Given the description of an element on the screen output the (x, y) to click on. 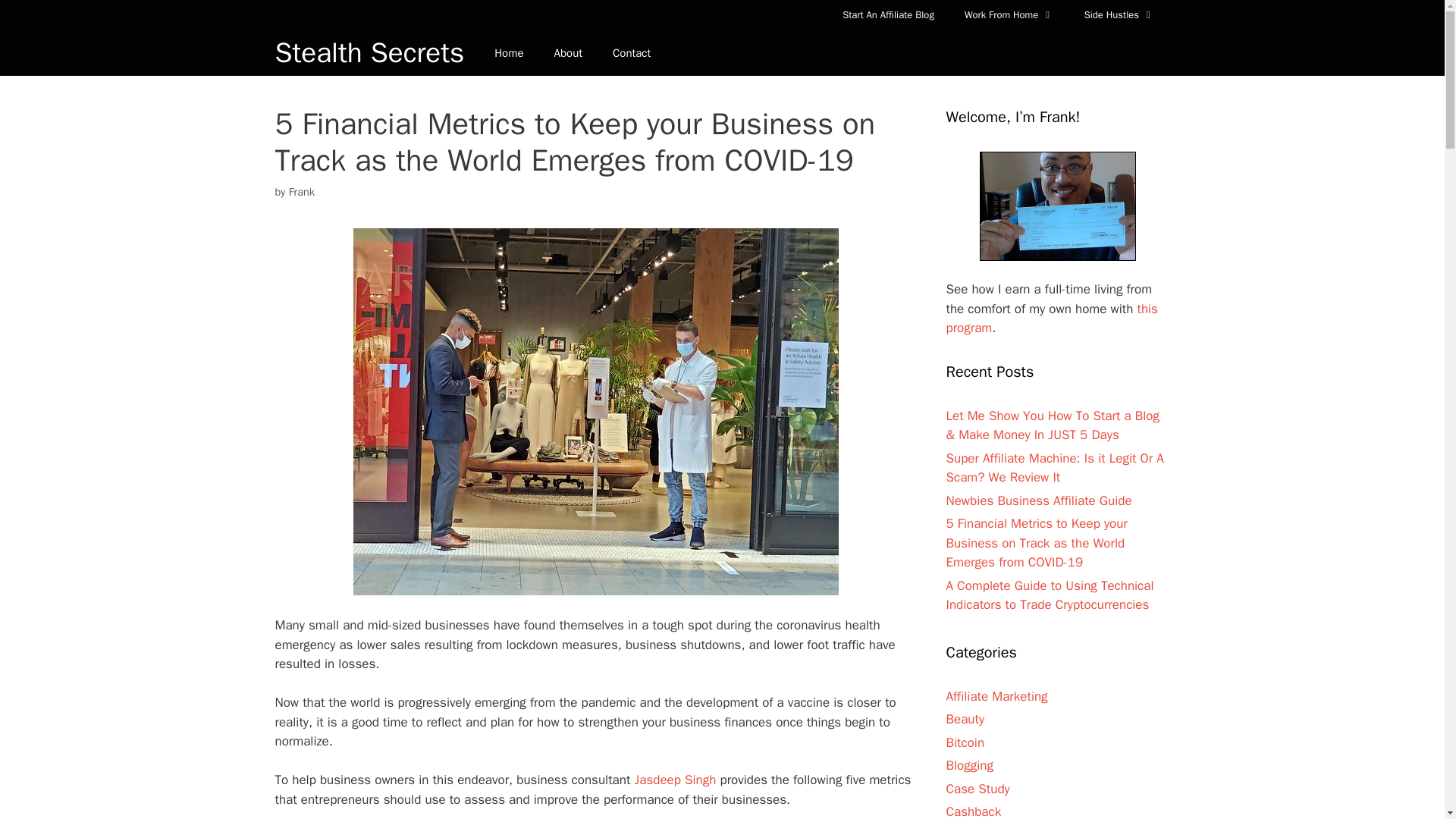
About (567, 53)
Home (508, 53)
About (567, 53)
Side Hustles (1119, 15)
Jasdeep Singh (674, 779)
Stealth Secrets (369, 53)
Work From Home (1008, 15)
Contact (630, 53)
Start An Affiliate Blog (888, 15)
Home (508, 53)
Contact (630, 53)
Frank (301, 192)
View all posts by Frank (301, 192)
